Given the description of an element on the screen output the (x, y) to click on. 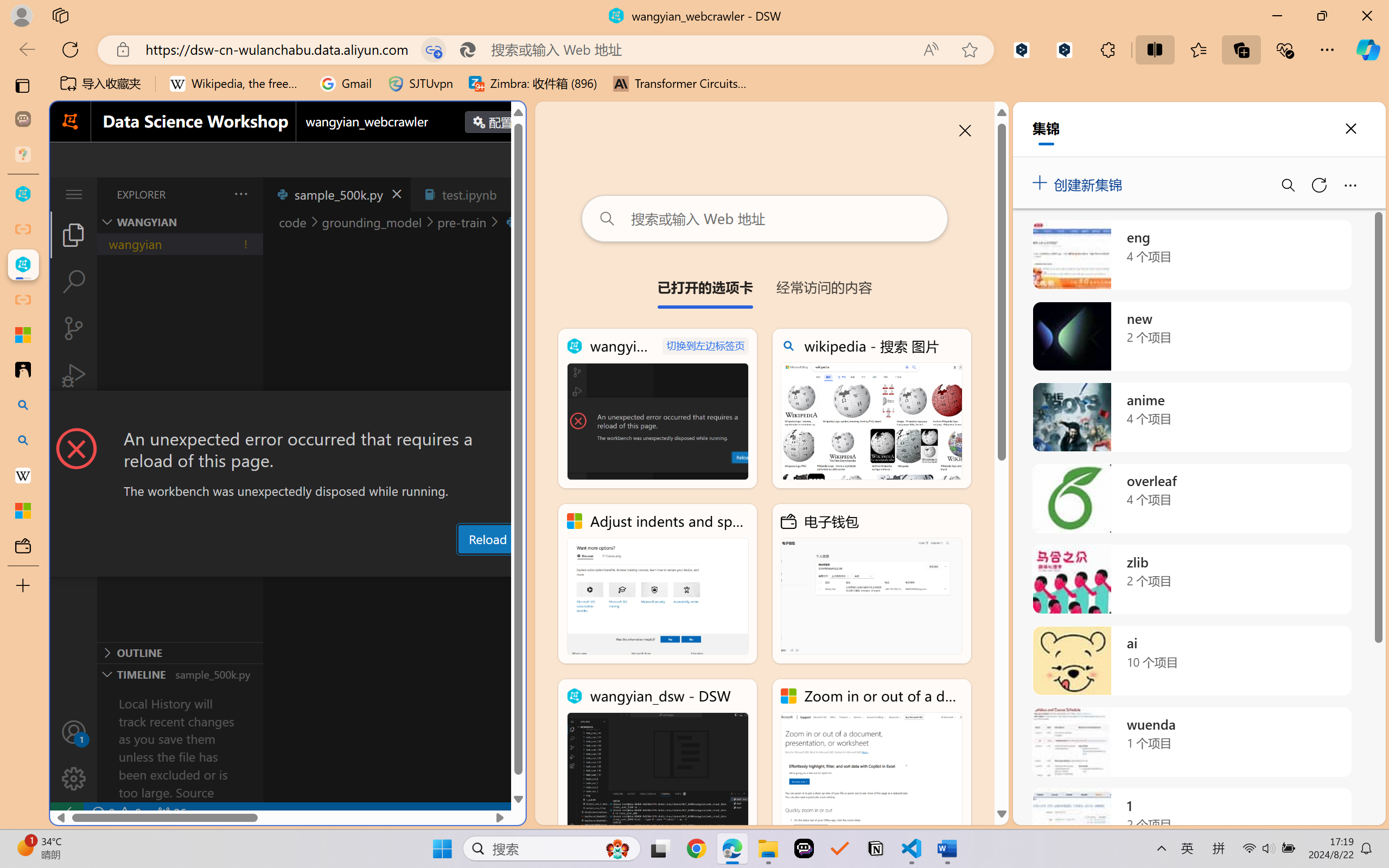
Explorer Section: wangyian (179, 221)
Problems (Ctrl+Shift+M) (308, 565)
Accounts - Sign in requested (73, 732)
Debug Console (Ctrl+Shift+Y) (463, 565)
Explorer (Ctrl+Shift+E) (73, 234)
wangyian_dsw - DSW (657, 758)
No Problems (115, 812)
